Given the description of an element on the screen output the (x, y) to click on. 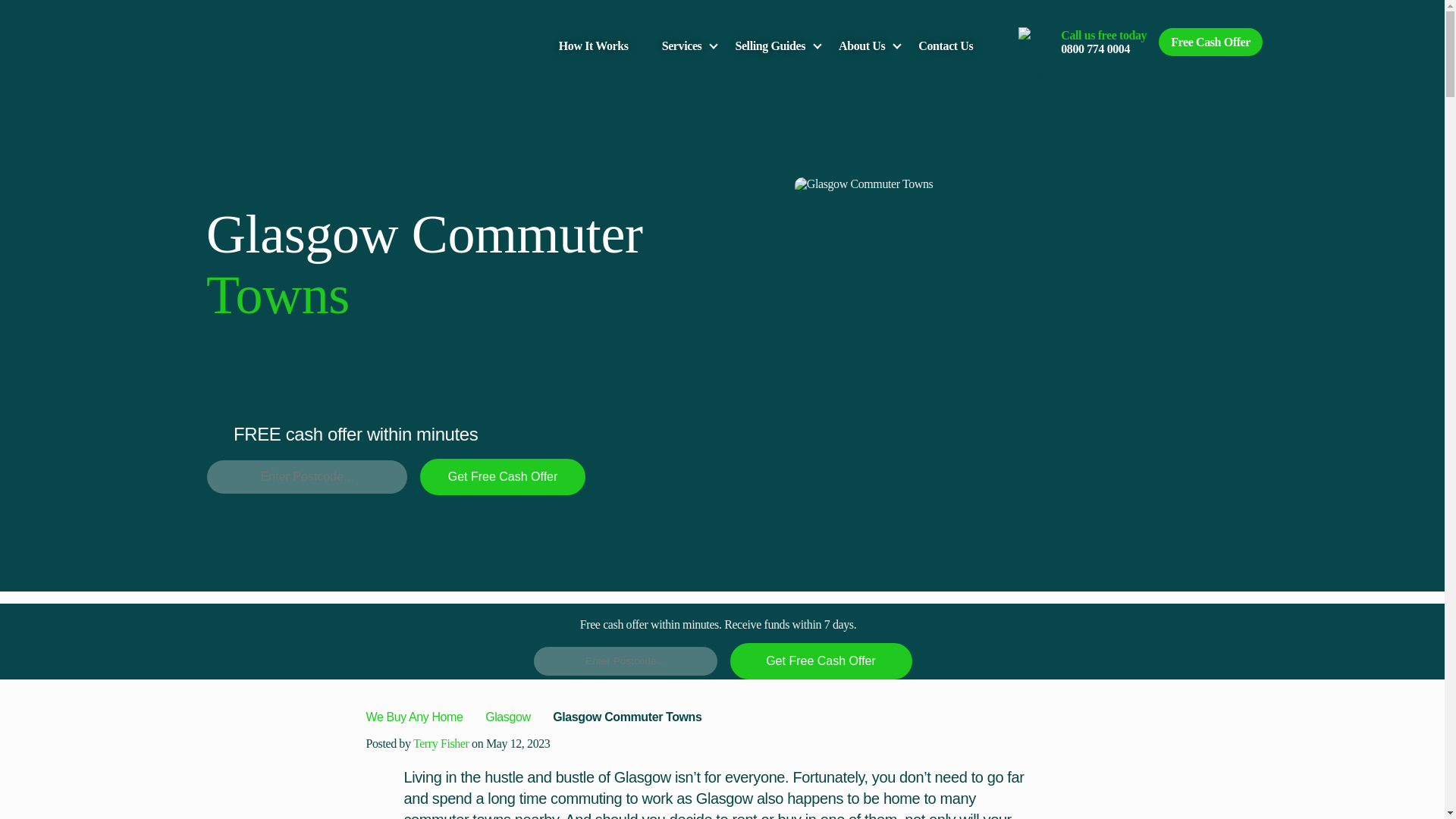
About Us (861, 45)
Terry Fisher (440, 743)
Get Free Cash Offer (502, 476)
Get Free Cash Offer (820, 660)
Glasgow (509, 716)
Services (681, 45)
Contact Us (945, 45)
We Buy Any Home (414, 716)
How It Works (593, 45)
0800 774 0004 (1095, 48)
